Given the description of an element on the screen output the (x, y) to click on. 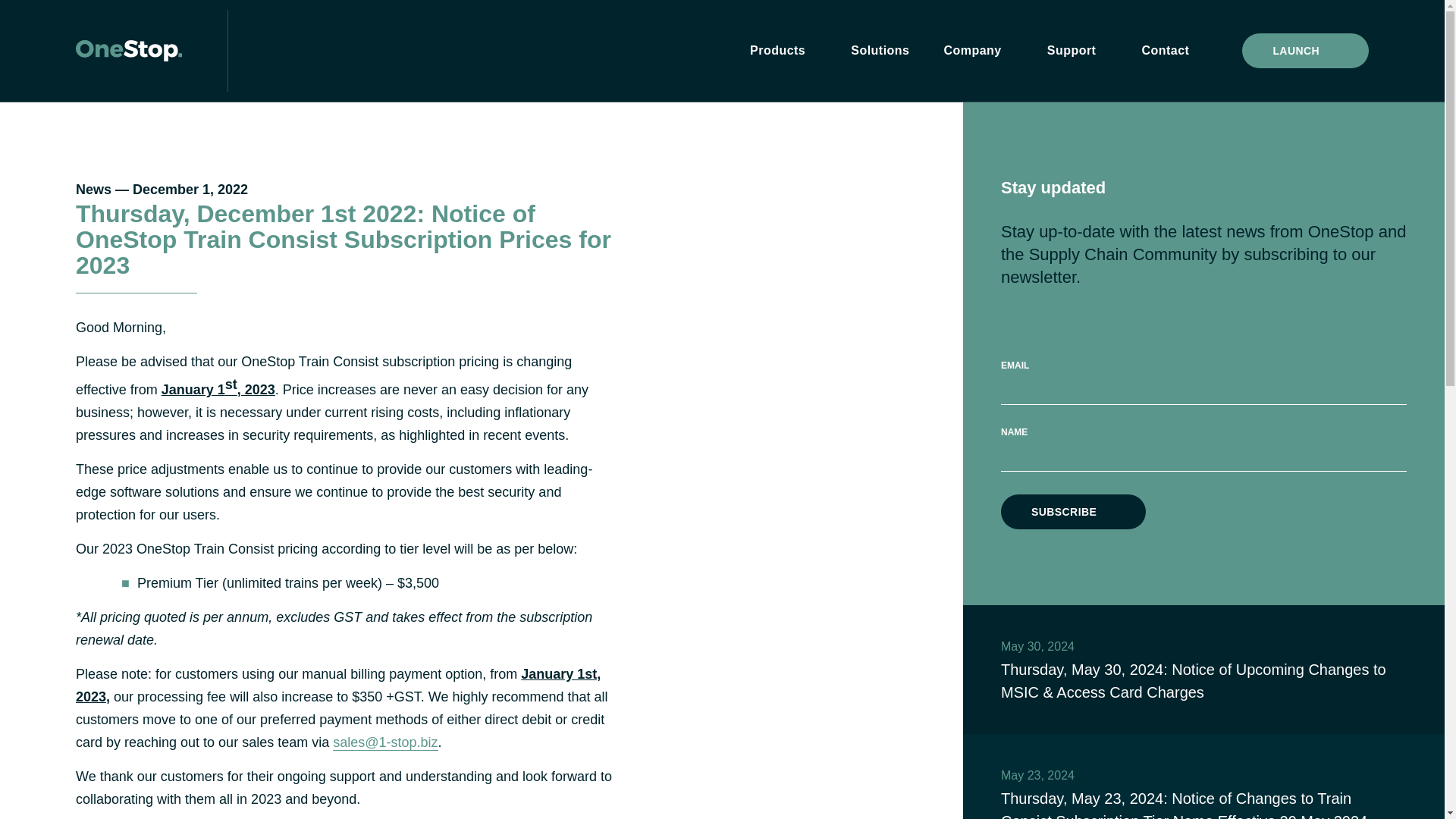
Company (978, 51)
Products (783, 51)
products (783, 51)
LAUNCH (1304, 50)
Solutions (880, 51)
Contact (1165, 51)
Support (1077, 51)
